Given the description of an element on the screen output the (x, y) to click on. 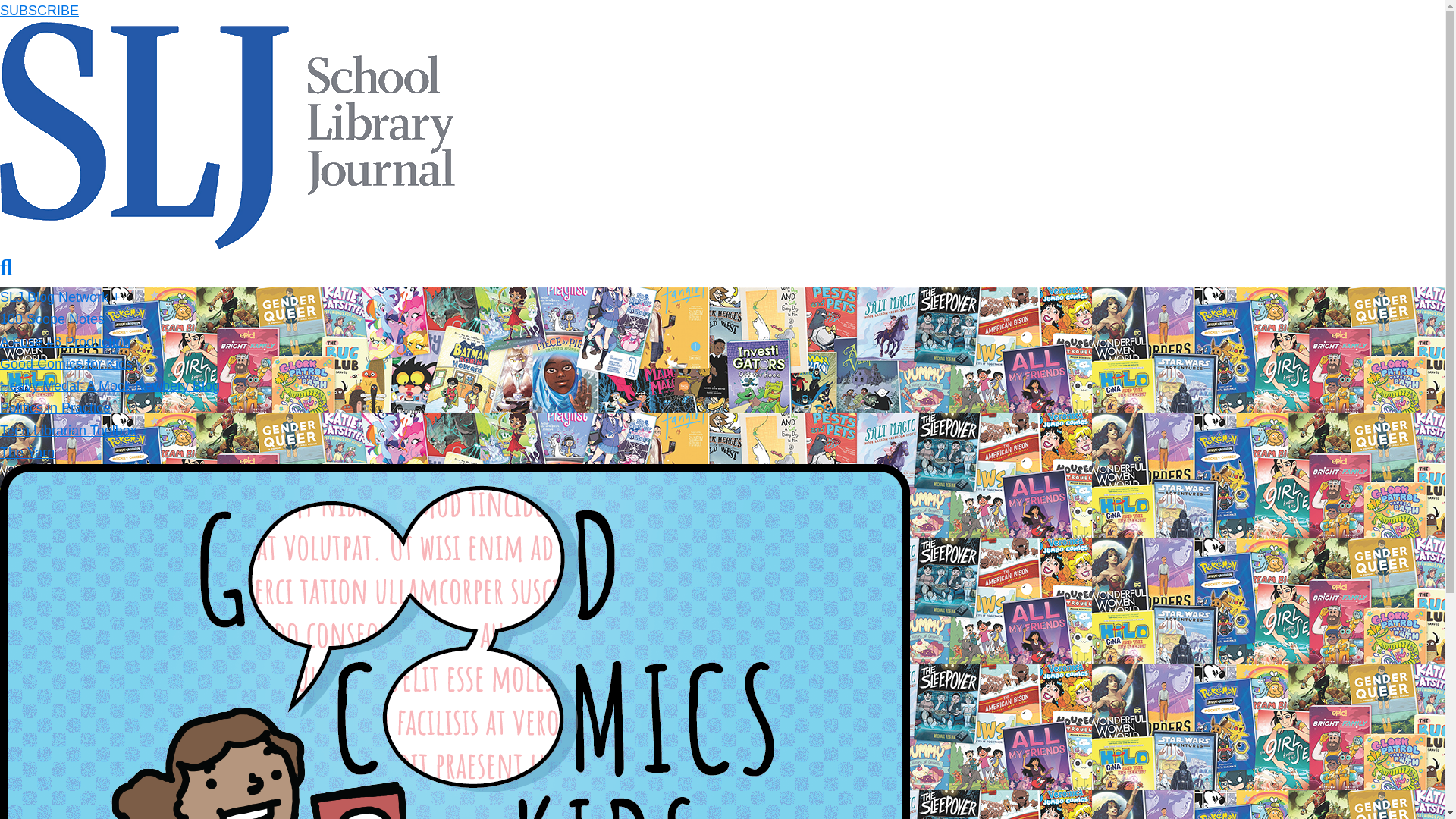
100 Scope Notes (52, 319)
SUBSCRIBE (39, 10)
Teen Librarian Toolbox (68, 430)
Good Comics for Kids (66, 363)
Heavy Medal: A Mock Newbery Blog (109, 385)
Politics in Practice (55, 407)
The Yarn (27, 452)
